Given the description of an element on the screen output the (x, y) to click on. 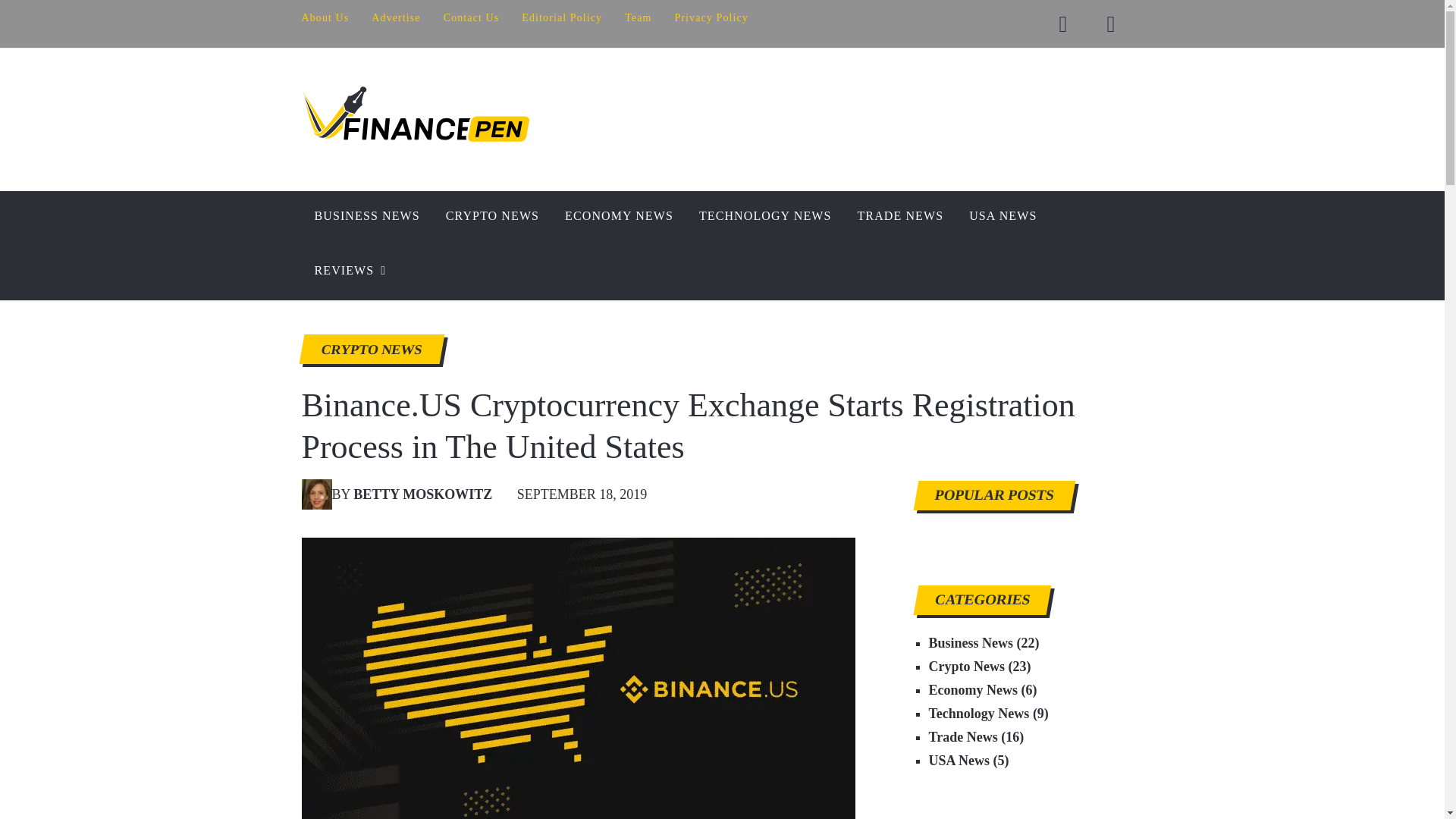
ECONOMY NEWS (618, 217)
TRADE NEWS (900, 217)
CRYPTO NEWS (370, 349)
Contact Us (471, 18)
REVIEWS (352, 272)
Team (637, 18)
BETTY MOSKOWITZ (422, 494)
BUSINESS NEWS (366, 217)
CRYPTO NEWS (491, 217)
Editorial Policy (561, 18)
Advertise (394, 18)
View all posts in Crypto News (370, 349)
USA NEWS (1002, 217)
Posts by Betty Moskowitz (422, 494)
Privacy Policy (705, 18)
